Given the description of an element on the screen output the (x, y) to click on. 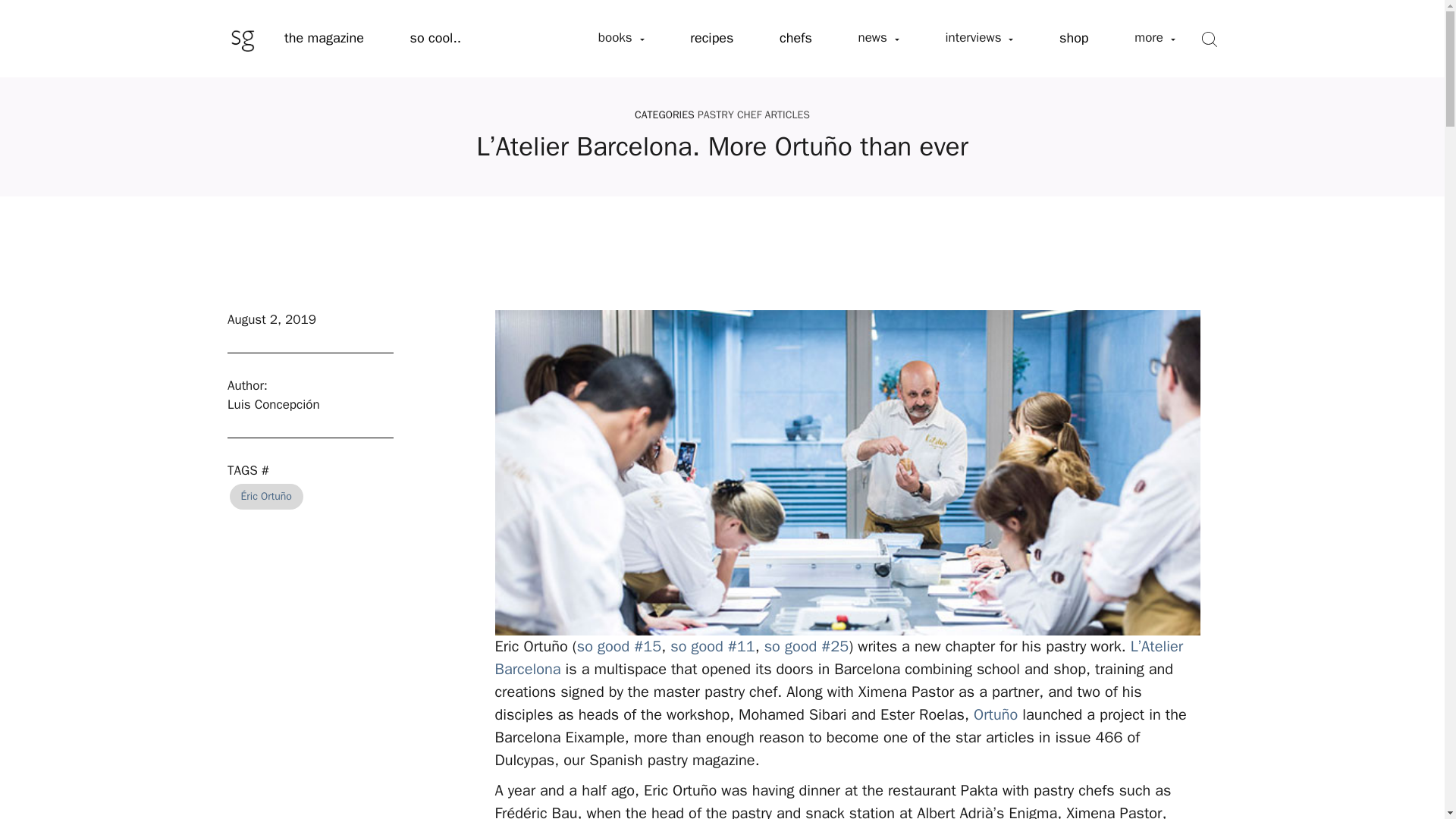
news (877, 37)
so cool.. (435, 38)
PASTRY CHEF ARTICLES (753, 114)
recipes (710, 38)
chefs (795, 38)
Pastry Chefs (795, 38)
shop (1073, 38)
the magazine (324, 38)
Pastry Recipes (710, 38)
The Magazine (324, 38)
interviews (978, 37)
books (620, 37)
more (1155, 37)
